Given the description of an element on the screen output the (x, y) to click on. 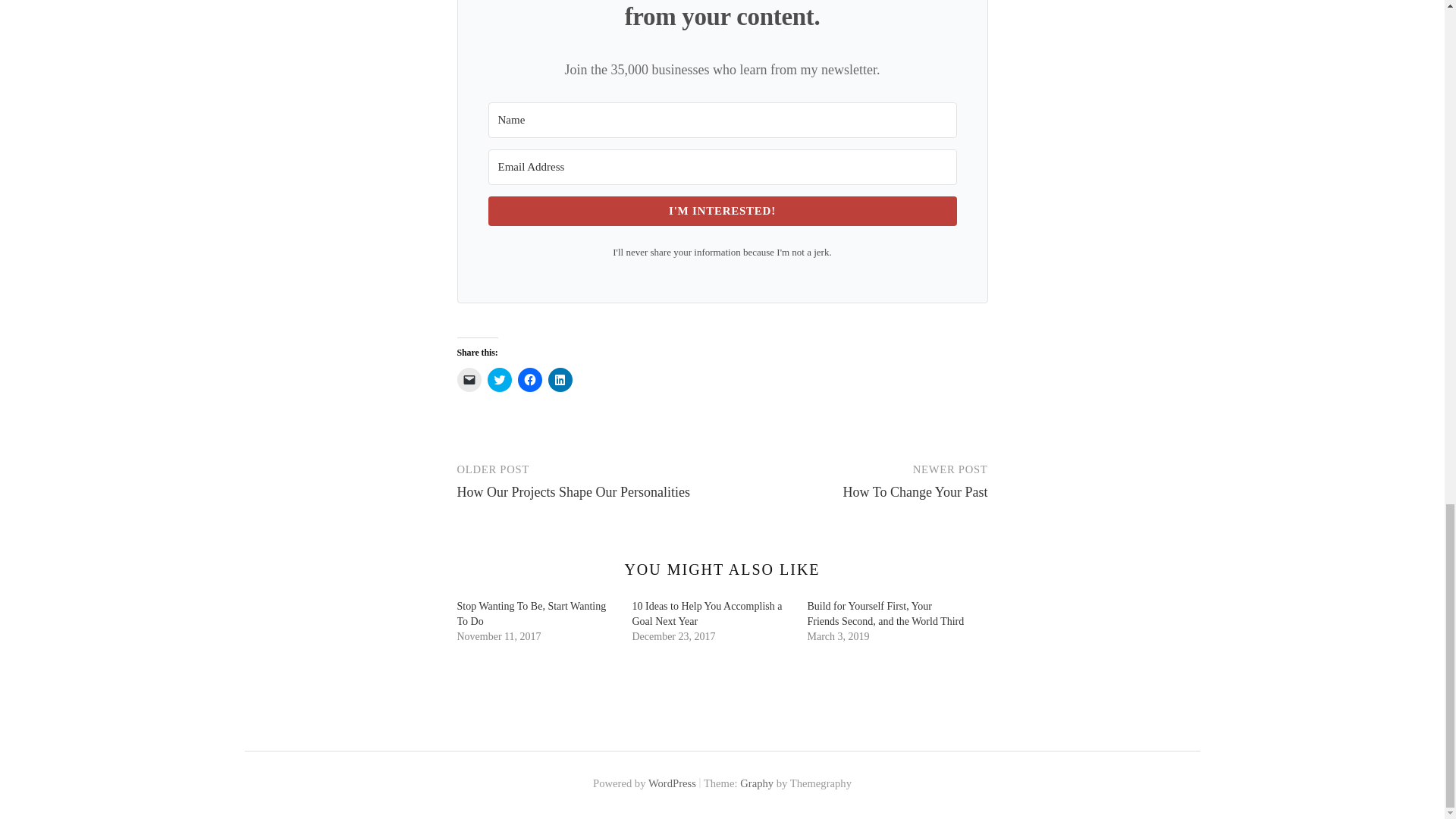
How Our Projects Shape Our Personalities (572, 491)
10 Ideas to Help You Accomplish a Goal Next Year (707, 613)
WordPress (671, 783)
Click to share on Facebook (528, 379)
Stop Wanting To Be, Start Wanting To Do (531, 613)
Graphy (756, 783)
Stop Wanting To Be, Start Wanting To Do (531, 613)
Click to share on Twitter (498, 379)
Click to email a link to a friend (468, 379)
Click to share on LinkedIn (559, 379)
How To Change Your Past (915, 491)
10 Ideas to Help You Accomplish a Goal Next Year (707, 613)
I'M INTERESTED! (721, 211)
